Given the description of an element on the screen output the (x, y) to click on. 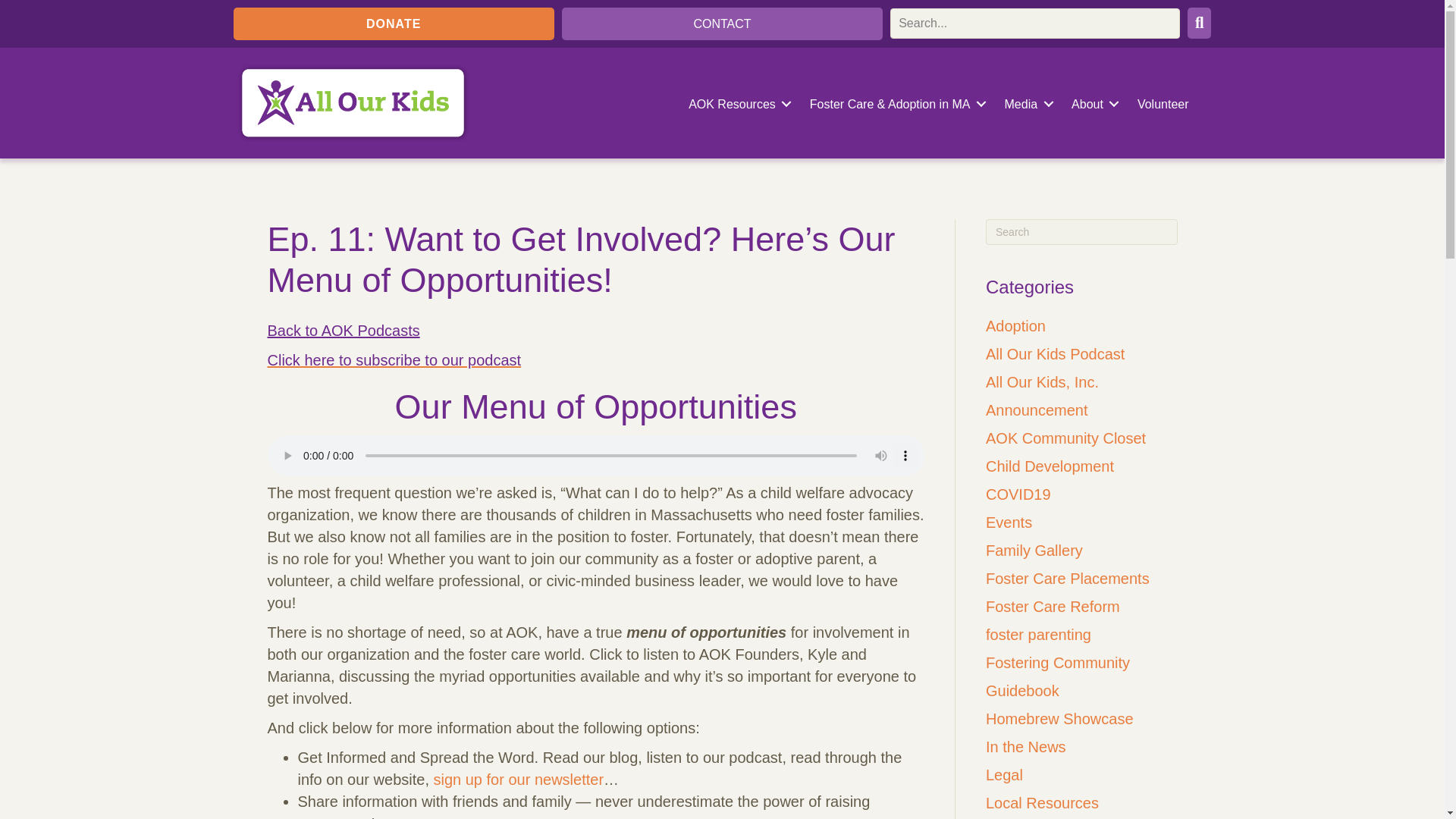
CONTACT (722, 23)
AOK Resources (737, 104)
DONATE (393, 23)
Volunteer (1162, 104)
Click here to subscribe to our podcast (393, 360)
Media (1025, 104)
Type and press Enter to search. (1081, 231)
sign up for our newsletter (518, 779)
Back to AOK Podcasts (342, 330)
About (1092, 104)
